Given the description of an element on the screen output the (x, y) to click on. 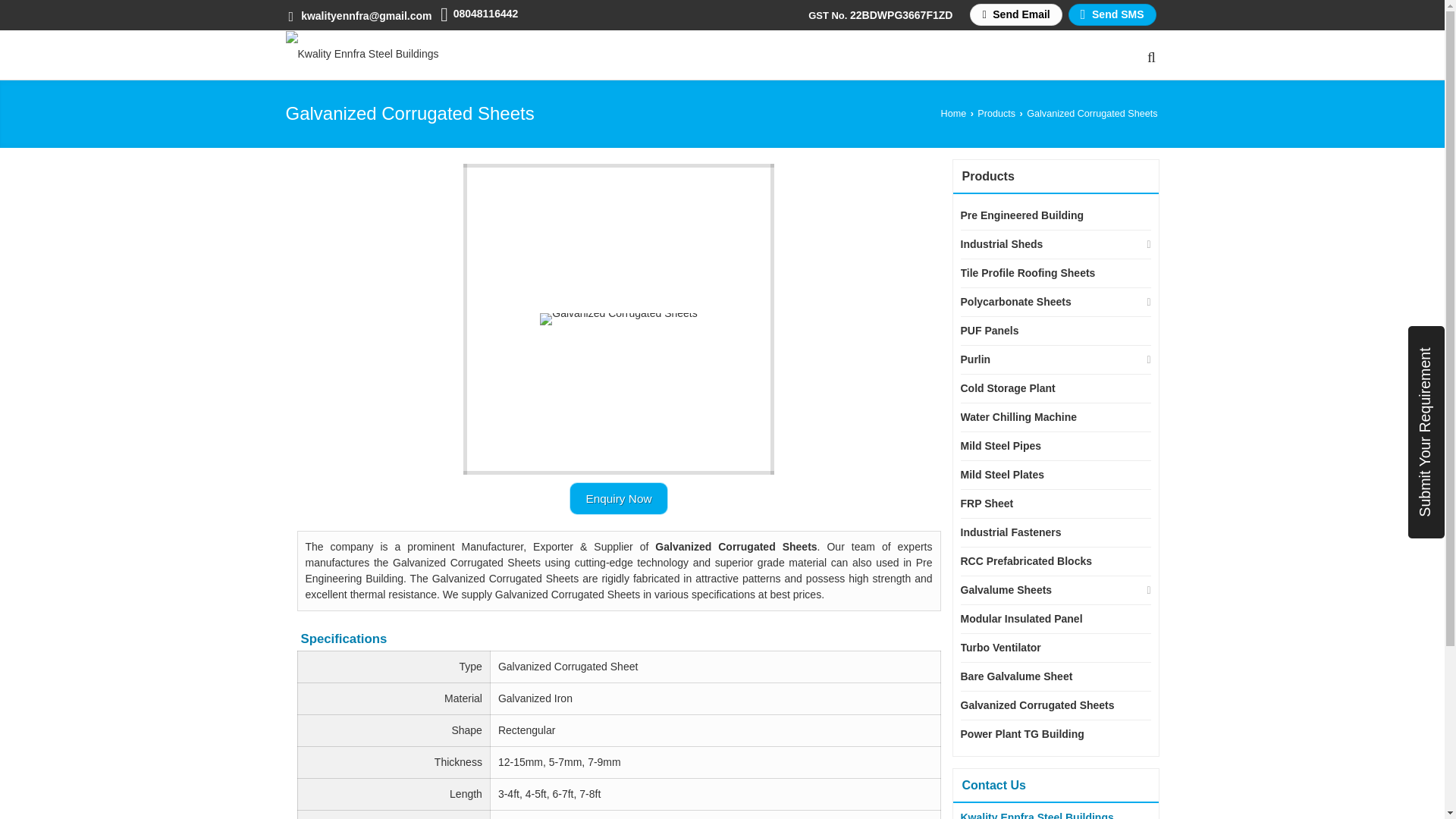
Kwality Ennfra Steel Buildings (361, 53)
Kwality Ennfra Steel Buildings (361, 53)
Send SMS (1112, 14)
Send Email (1015, 14)
